Given the description of an element on the screen output the (x, y) to click on. 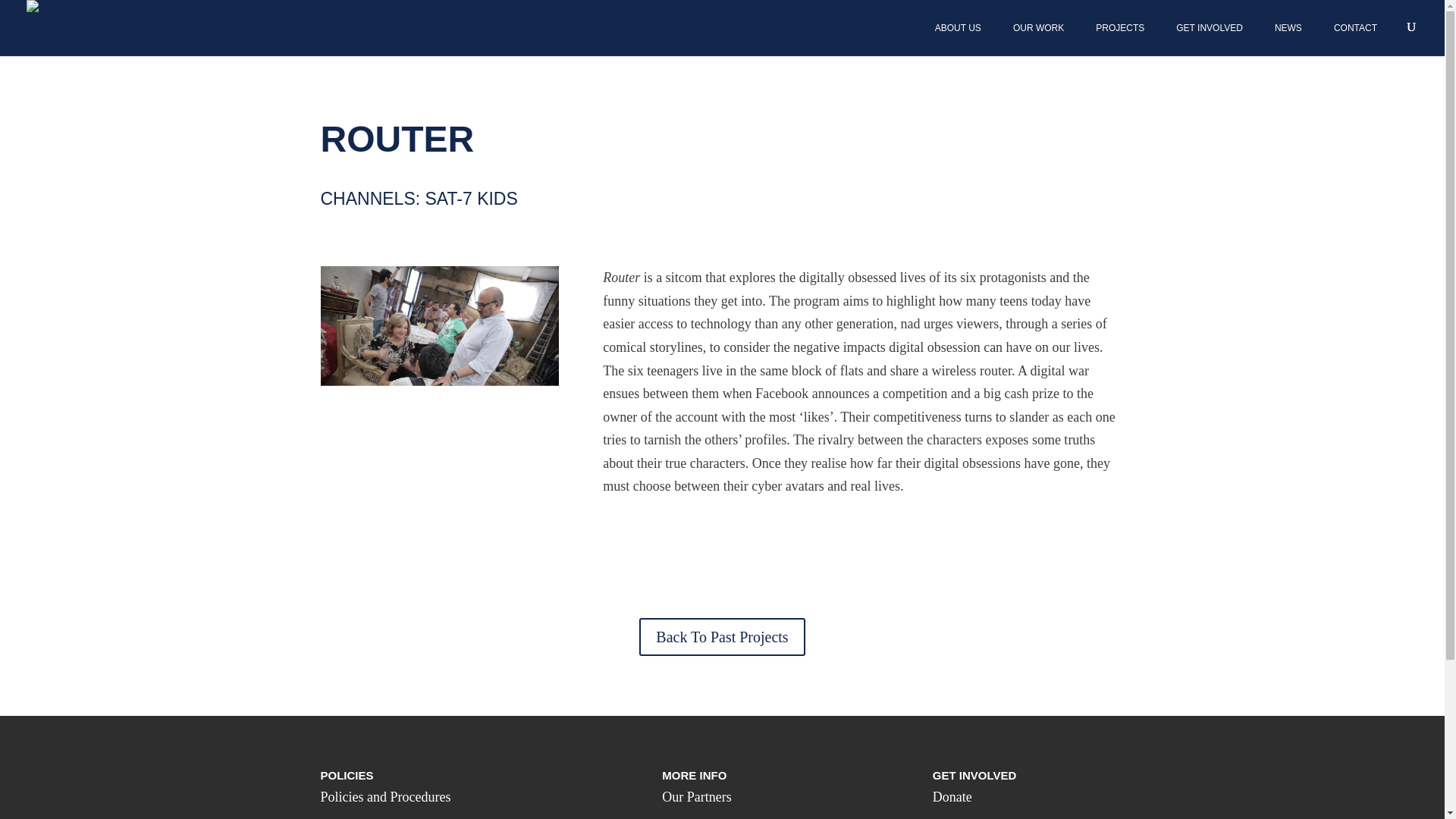
ABOUT US (958, 28)
History (682, 817)
Our Partners (696, 796)
Back To Past Projects (722, 637)
PROJECTS (1120, 28)
OUR WORK (1039, 28)
Financial Accountability (387, 817)
GET INVOLVED (1210, 28)
Policies and Procedures (384, 796)
NEWS (1289, 28)
Donate (952, 796)
Volunteer (959, 817)
CONTACT (1355, 28)
